Given the description of an element on the screen output the (x, y) to click on. 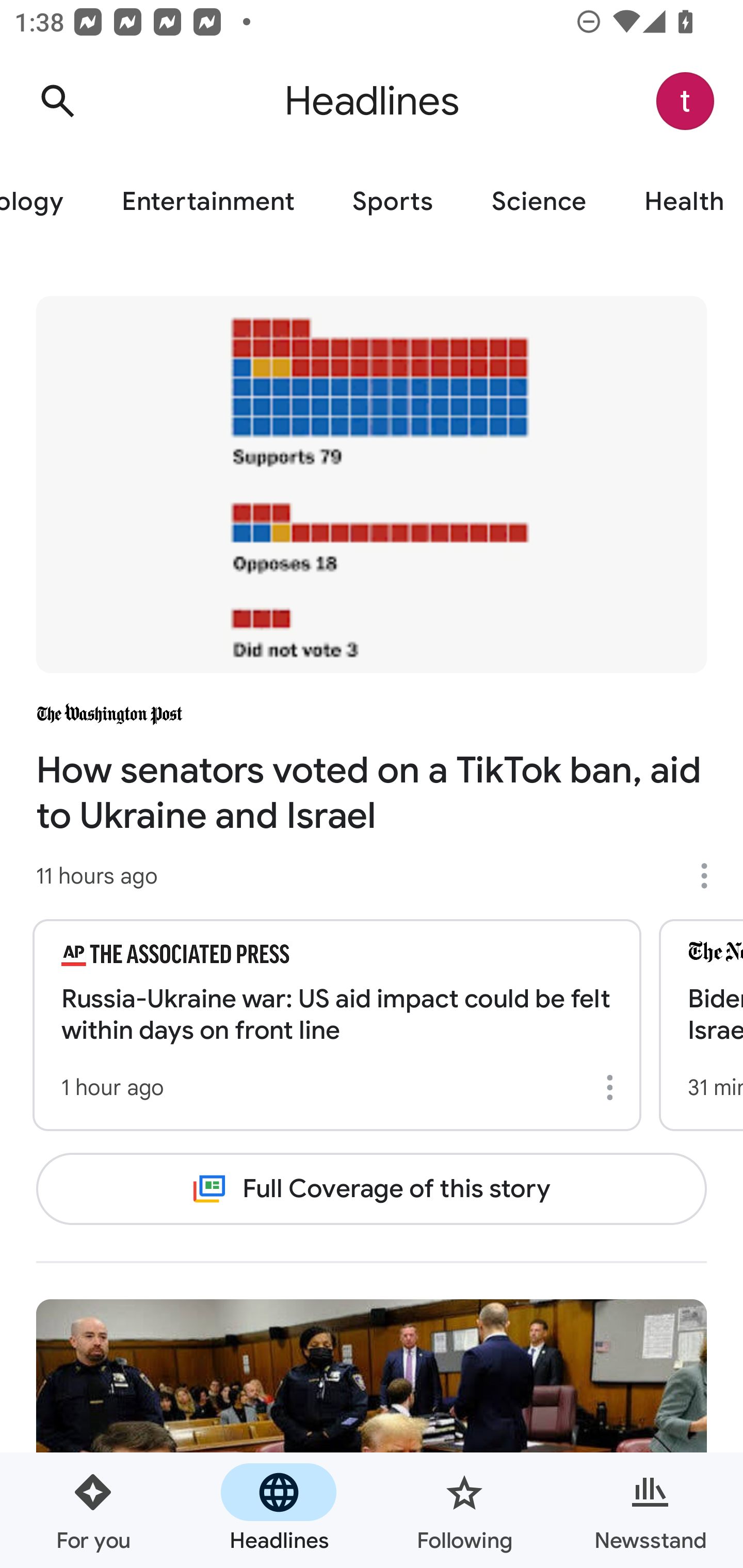
Search (57, 100)
Entertainment (207, 202)
Sports (392, 202)
Science (538, 202)
Health (679, 202)
More options (711, 875)
More options (613, 1086)
Full Coverage of this story (371, 1188)
For you (92, 1509)
Headlines (278, 1509)
Following (464, 1509)
Newsstand (650, 1509)
